Given the description of an element on the screen output the (x, y) to click on. 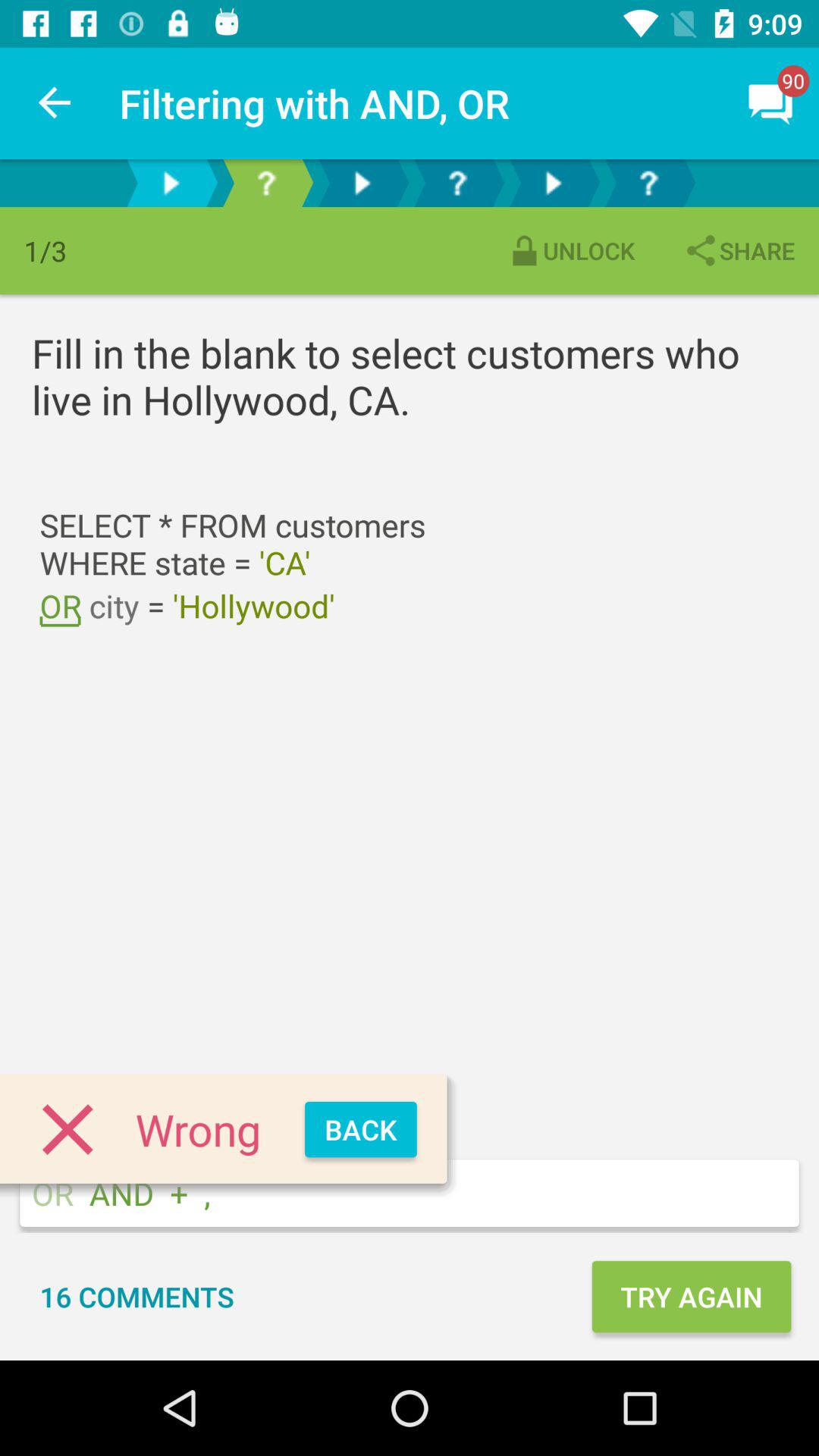
page 4 (457, 183)
